Given the description of an element on the screen output the (x, y) to click on. 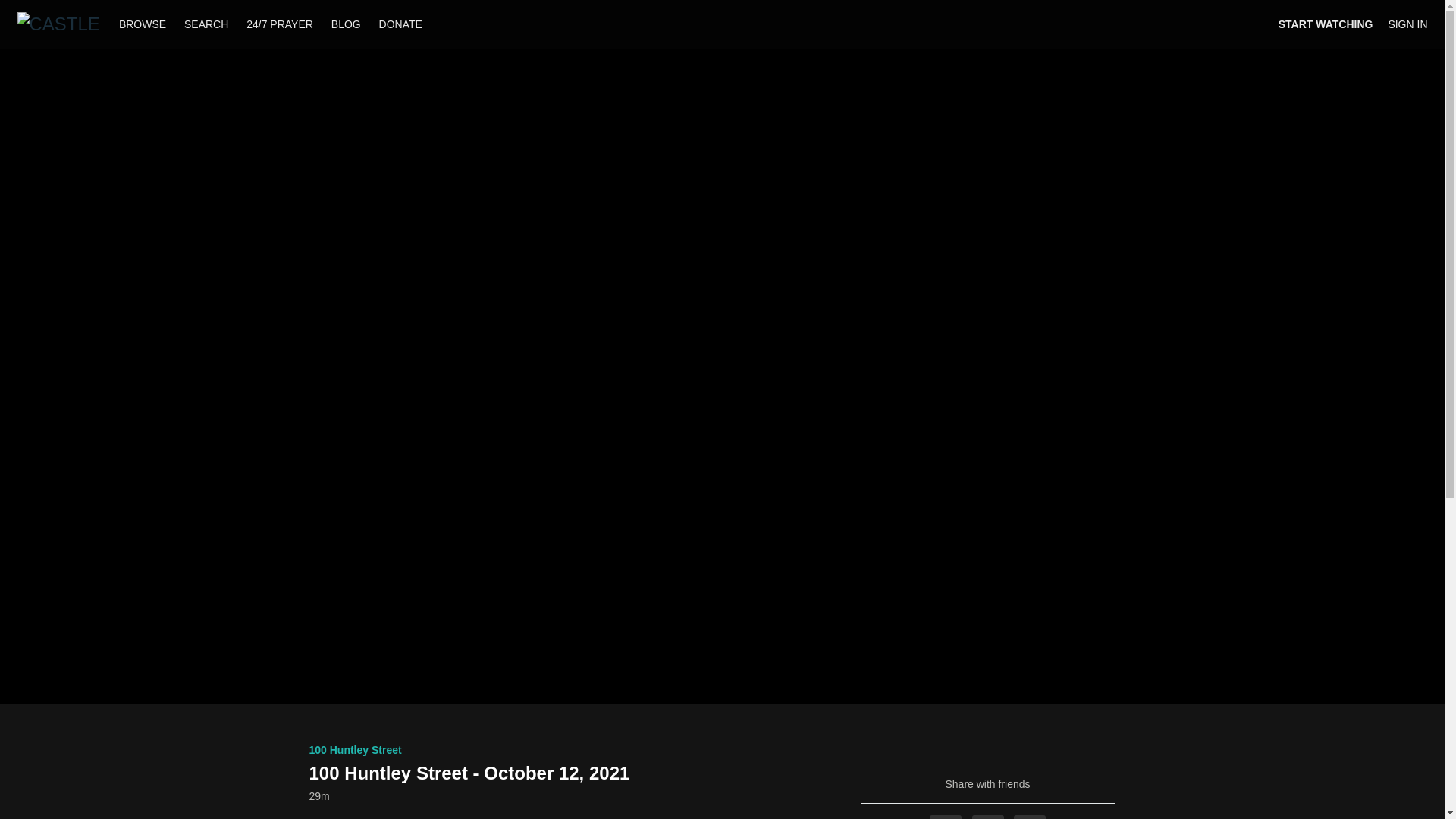
BROWSE (144, 24)
START WATCHING (1325, 24)
Facebook (945, 816)
SIGN IN (1406, 24)
Email (1029, 816)
SEARCH (207, 24)
Skip to main content (48, 7)
DONATE (400, 24)
BLOG (345, 24)
100 Huntley Street (354, 749)
Twitter (988, 816)
